Given the description of an element on the screen output the (x, y) to click on. 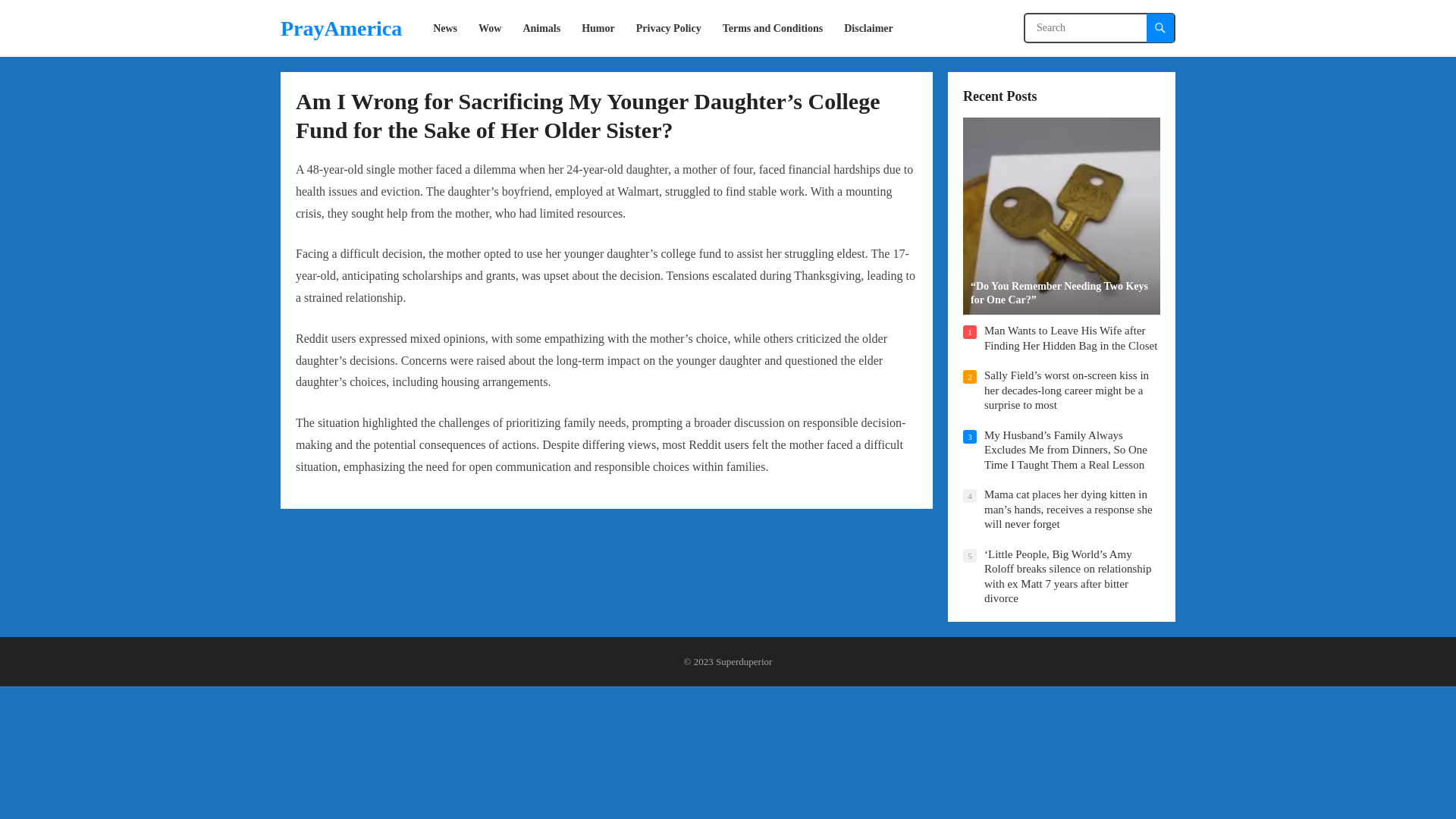
Privacy Policy (668, 28)
PrayAmerica (341, 28)
Superduperior (743, 661)
Terms and Conditions (772, 28)
Disclaimer (868, 28)
Humor (598, 28)
Animals (541, 28)
